Given the description of an element on the screen output the (x, y) to click on. 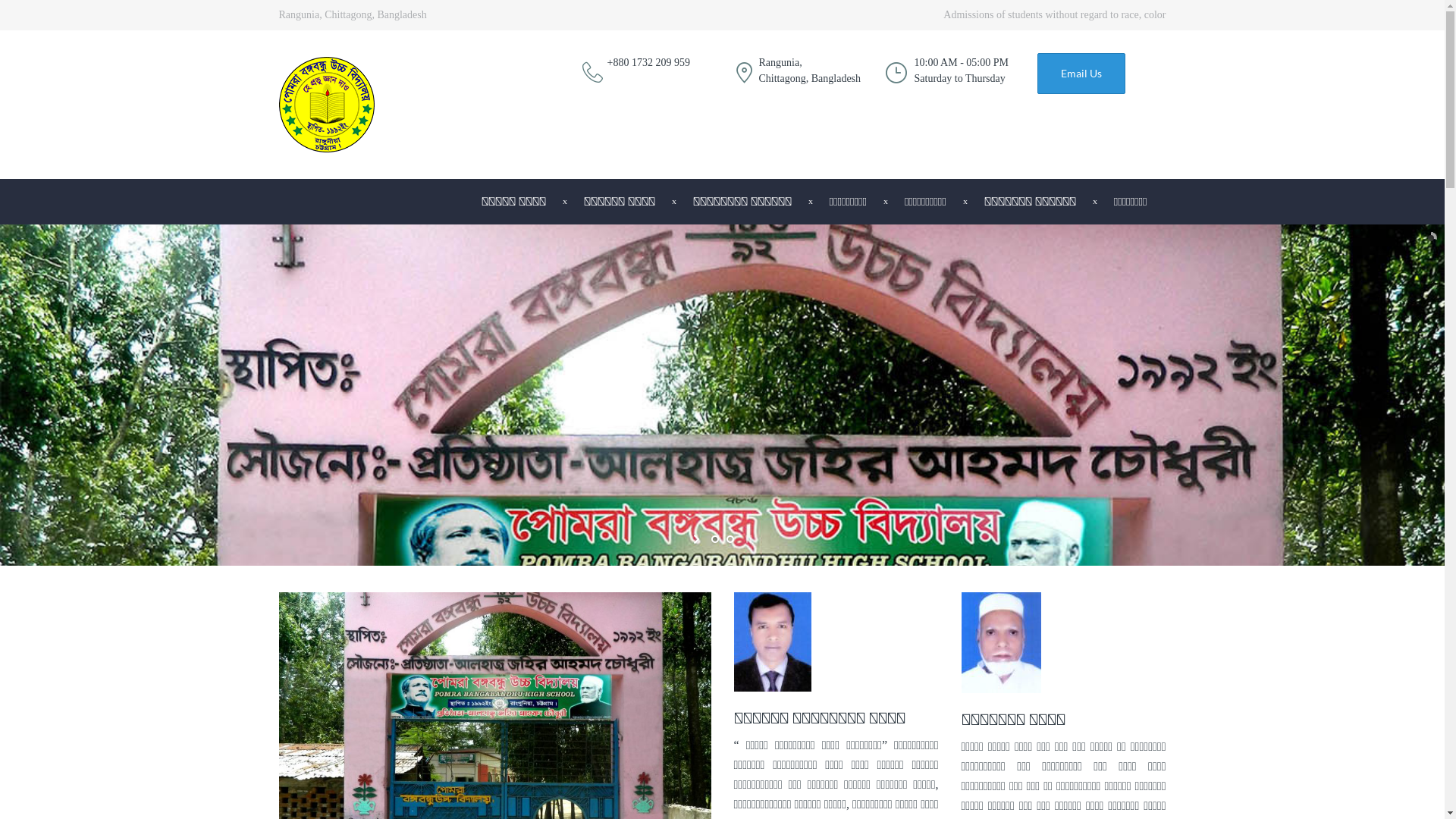
Email Us Element type: text (1081, 73)
